Given the description of an element on the screen output the (x, y) to click on. 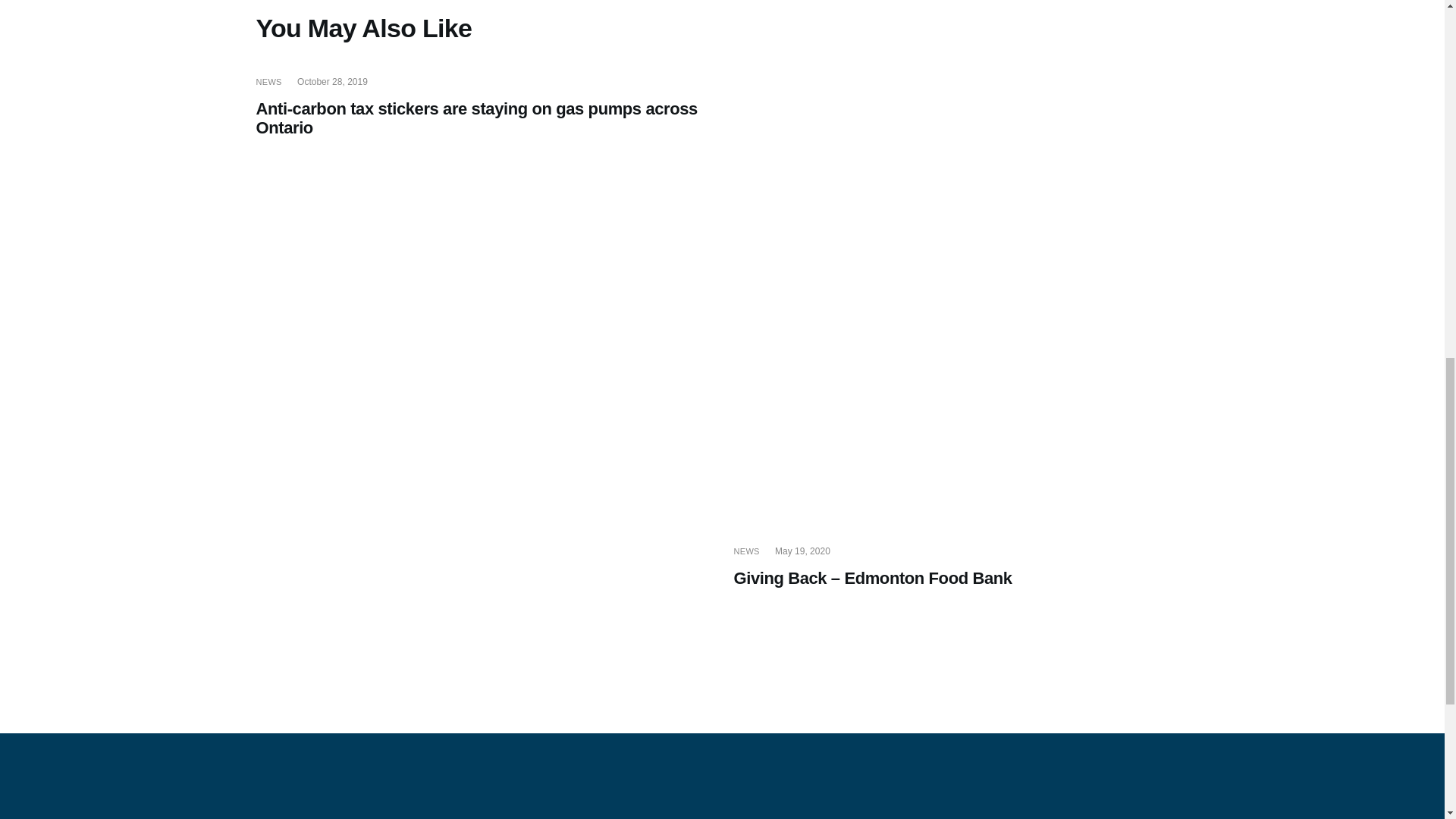
October 28, 2019 (332, 81)
View all posts in News (746, 551)
NEWS (269, 81)
View all posts in News (269, 81)
